Given the description of an element on the screen output the (x, y) to click on. 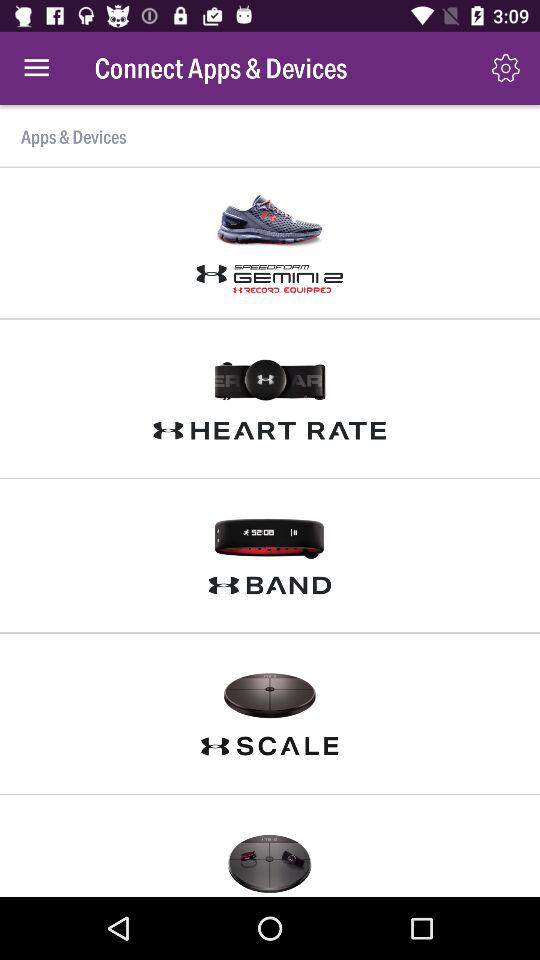
click icon next to connect apps & devices item (505, 67)
